Given the description of an element on the screen output the (x, y) to click on. 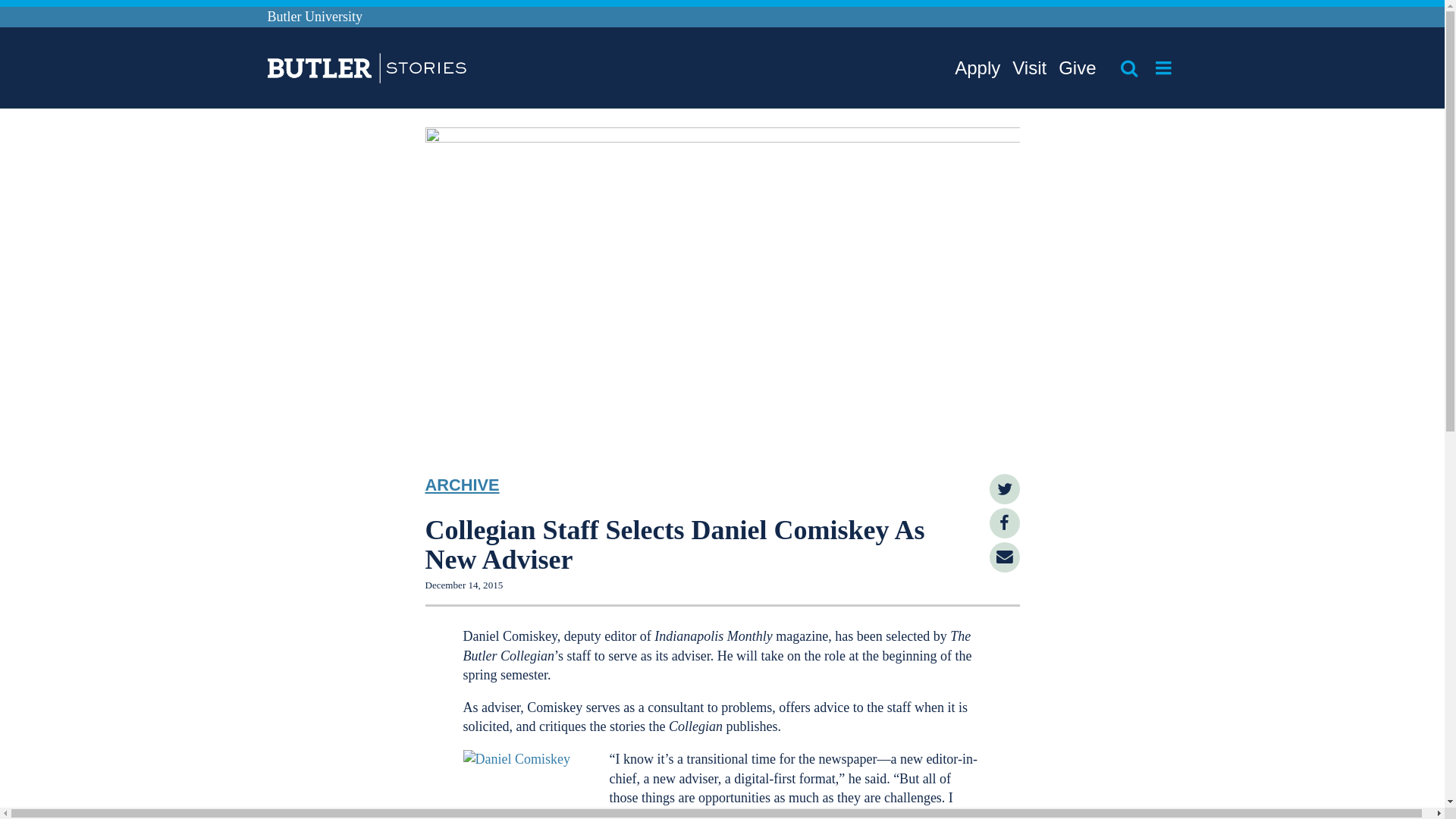
Give (1077, 68)
Visit (1028, 68)
Stories (344, 69)
Apply (977, 68)
Butler University (313, 16)
